Given the description of an element on the screen output the (x, y) to click on. 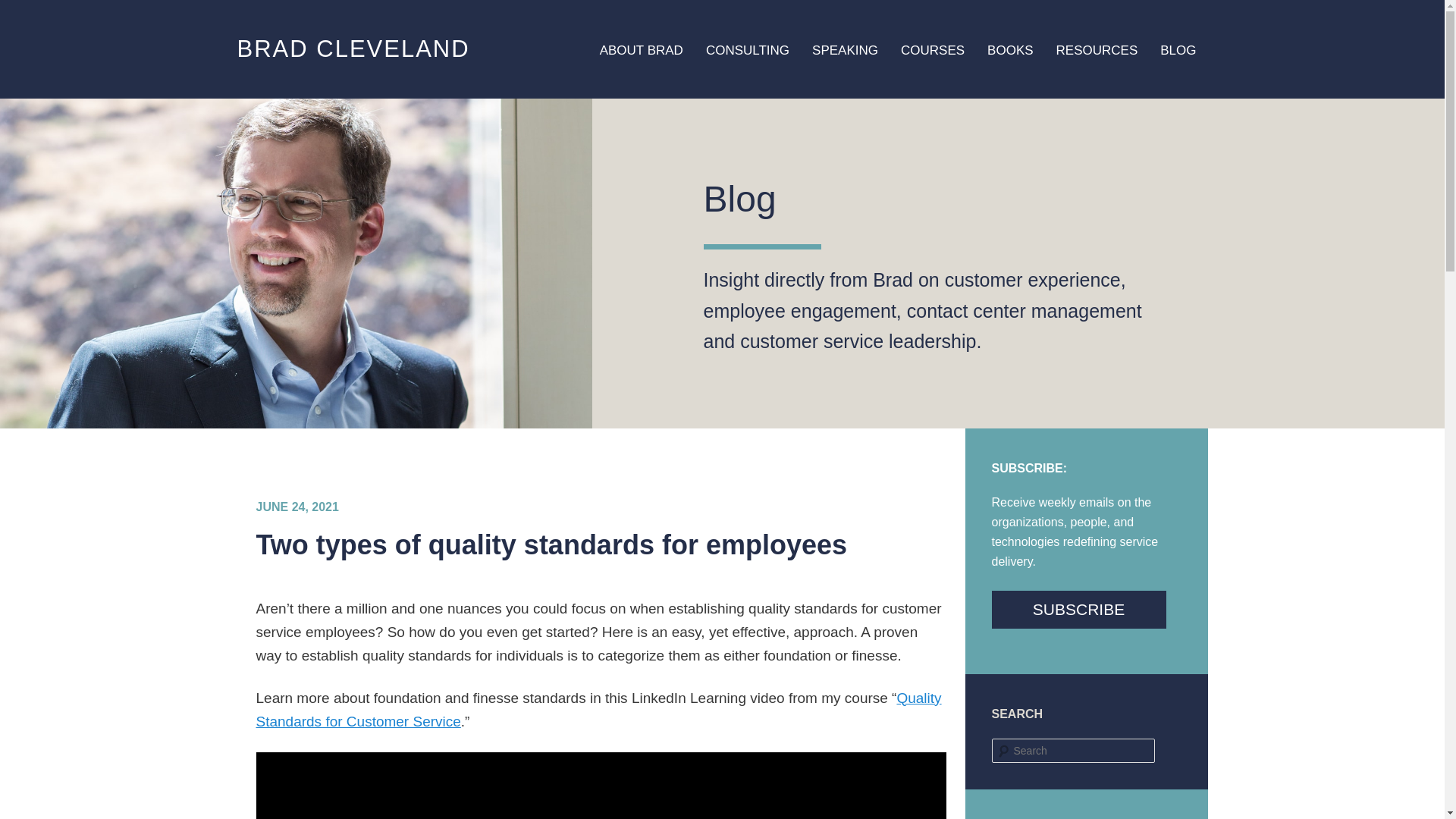
CONSULTING (747, 50)
6:27 am (297, 507)
BLOG (1177, 50)
RESOURCES (1097, 50)
COURSES (932, 50)
Search (21, 11)
SUBSCRIBE (1078, 609)
JUNE 24, 2021 (297, 507)
SPEAKING (844, 50)
ABOUT BRAD (641, 50)
Quality Standards for Customer Service (599, 709)
BOOKS (1009, 50)
BRAD CLEVELAND (351, 49)
